Given the description of an element on the screen output the (x, y) to click on. 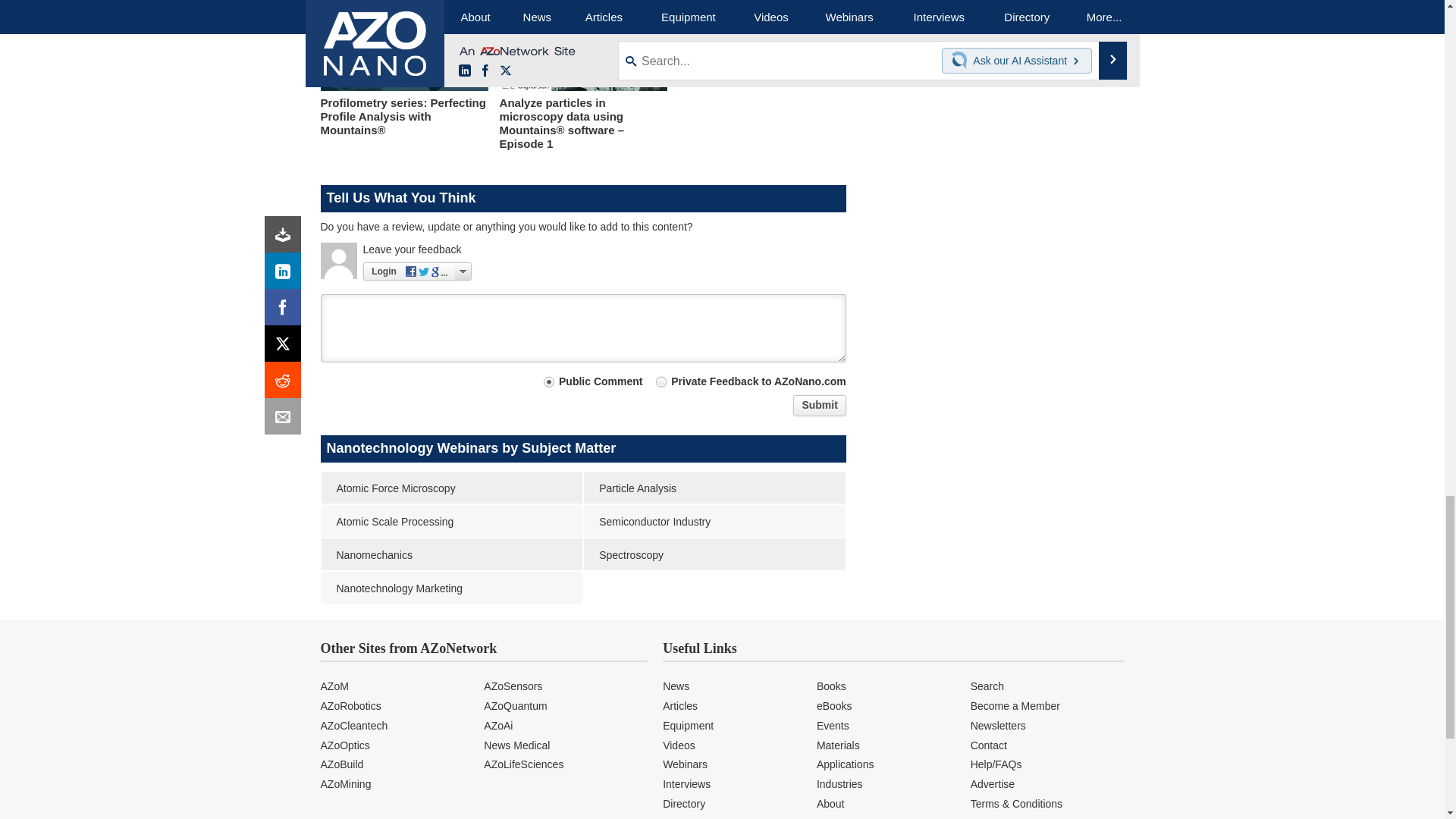
Atomic Force Microscopy (452, 487)
Atomic Scale Processing (452, 521)
Nanotechnology Marketing (452, 587)
Particle Analysis (714, 487)
Semiconductor Industry (714, 521)
Nanomechanics (452, 554)
Spectroscopy (714, 554)
